Given the description of an element on the screen output the (x, y) to click on. 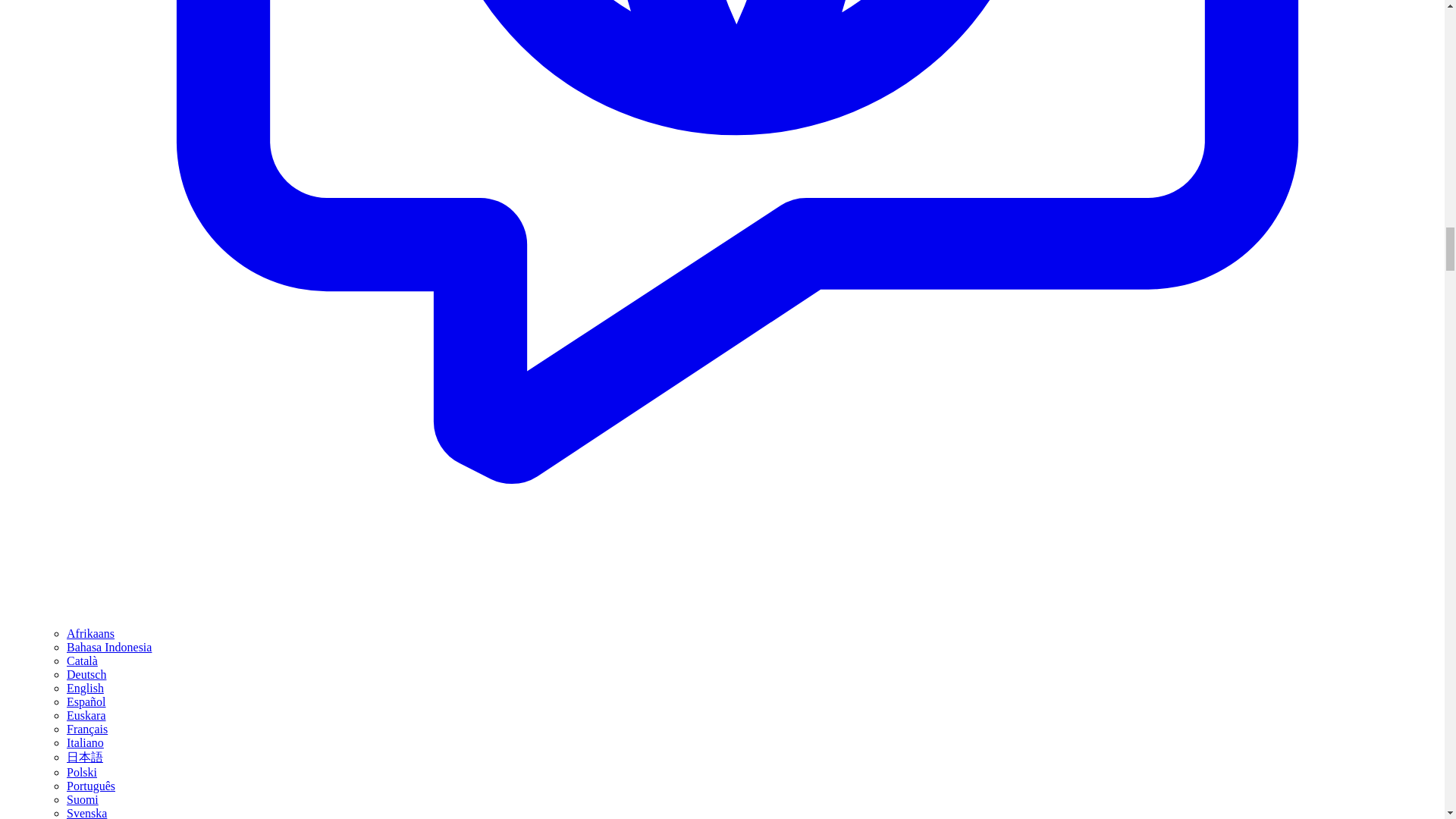
Svenska (86, 812)
Afrikaans (90, 633)
Suomi (82, 799)
Euskara (86, 715)
Italiano (84, 742)
Bahasa Indonesia (108, 646)
English (84, 687)
Deutsch (86, 674)
Polski (81, 771)
